Given the description of an element on the screen output the (x, y) to click on. 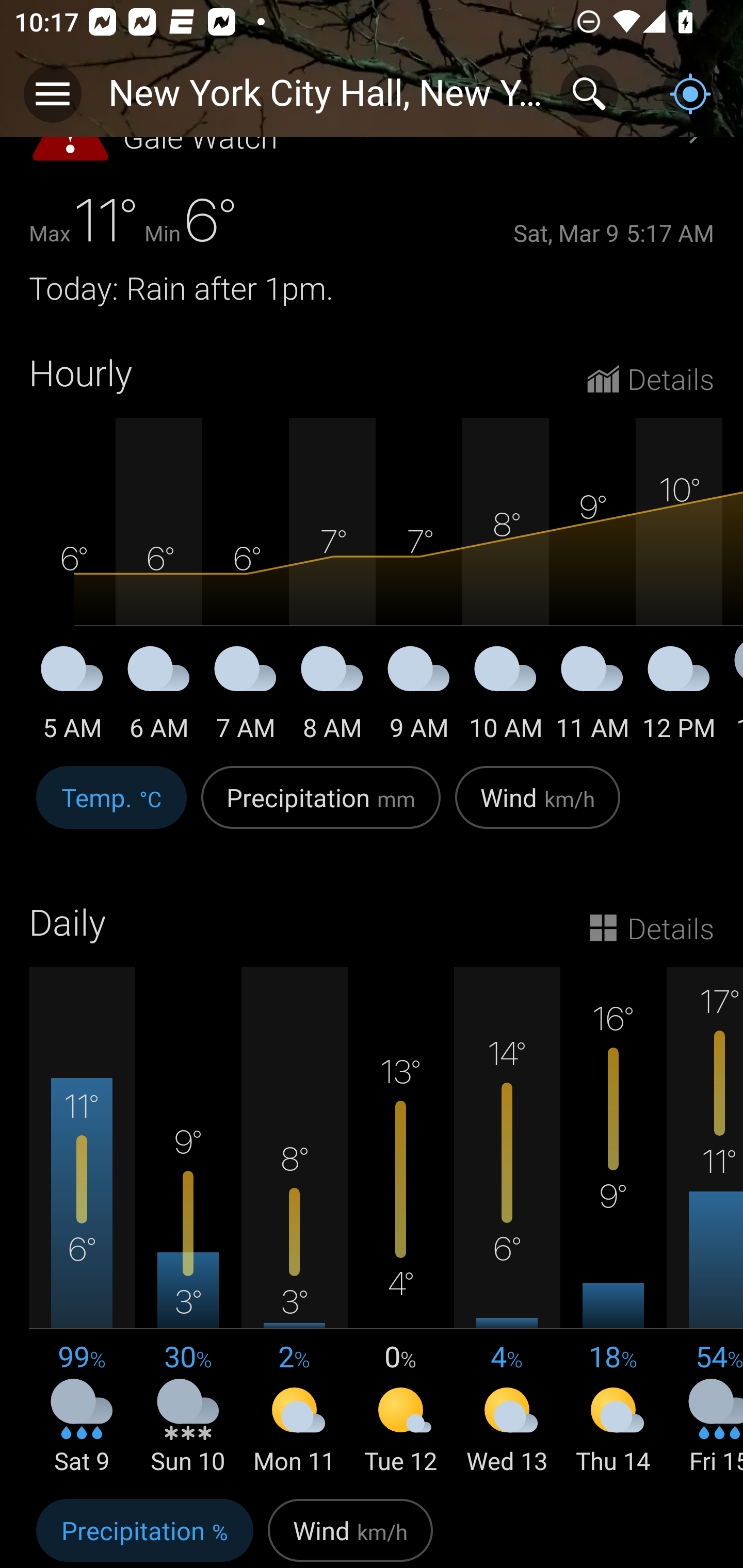
5 AM 6 AM 7 AM 8 AM 9 AM 10 AM 11 AM 12 PM 1 PM (371, 580)
5 AM (71, 696)
6 AM (158, 696)
7 AM (245, 696)
8 AM (332, 696)
9 AM (418, 696)
10 AM (505, 696)
11 AM (592, 696)
12 PM (679, 696)
Temp. °C (110, 807)
Precipitation mm (320, 807)
Wind km/h (537, 807)
11° 6° 99 % Sat 9 (81, 1222)
9° 3° 30 % Sun 10 (188, 1222)
8° 3° 2 % Mon 11 (294, 1222)
13° 4° 0 % Tue 12 (400, 1222)
14° 6° 4 % Wed 13 (506, 1222)
16° 9° 18 % Thu 14 (613, 1222)
17° 11° 54 % Fri 15 (704, 1222)
Precipitation % (144, 1529)
Wind km/h (349, 1529)
